Given the description of an element on the screen output the (x, y) to click on. 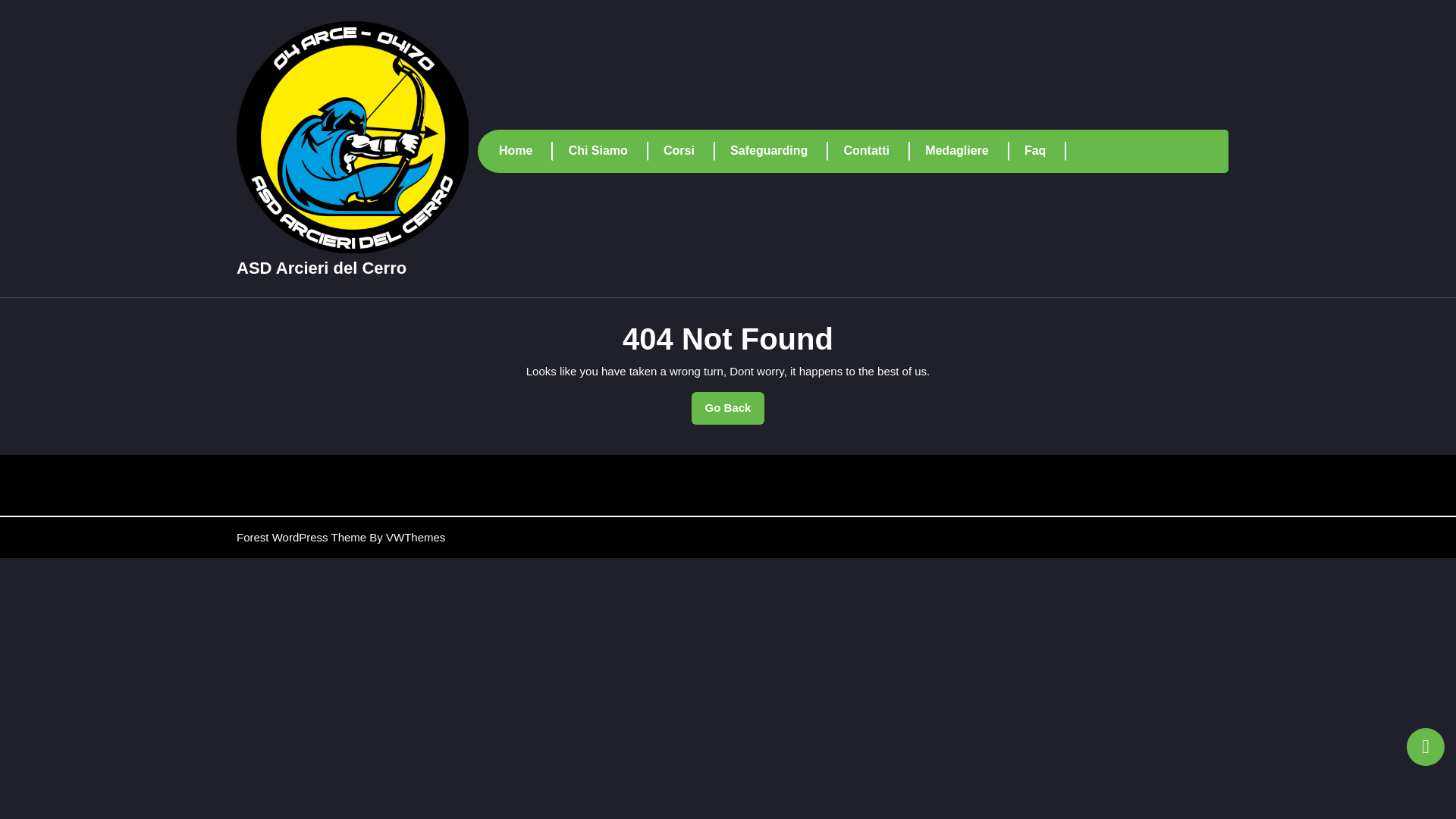
Contatti (877, 150)
Chi Siamo (608, 150)
Medagliere (966, 150)
Home (526, 150)
Corsi (688, 150)
ASD Arcieri del Cerro (320, 267)
Faq (1045, 150)
Forest WordPress Theme (728, 408)
Safeguarding (300, 536)
